Given the description of an element on the screen output the (x, y) to click on. 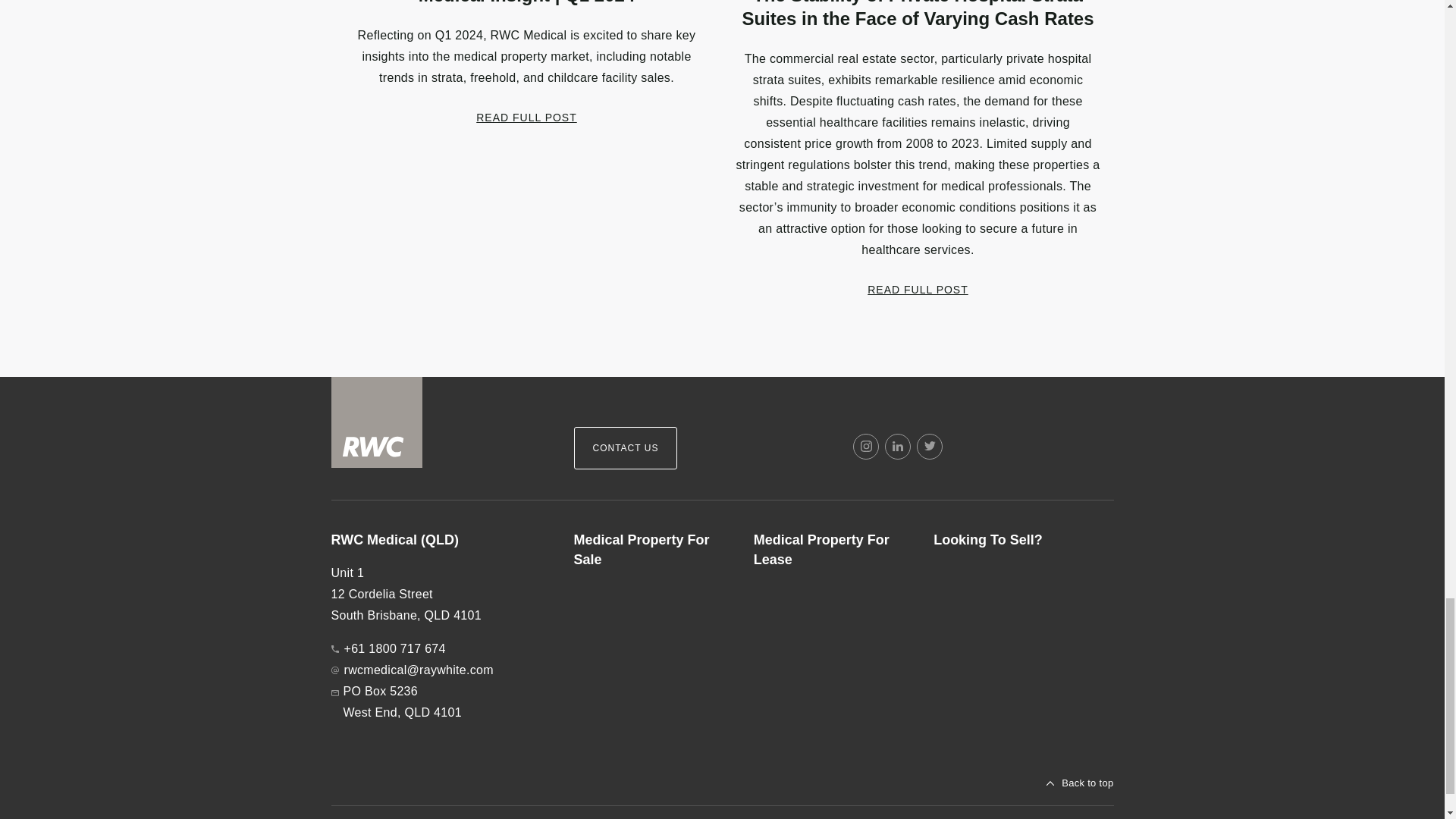
READ FULL POST (526, 116)
CONTACT US (625, 447)
LinkedIn (898, 446)
Ray White (376, 421)
Twitter (929, 446)
Back to top (1079, 783)
Medical Property For Lease (831, 550)
Looking To Sell? (1011, 540)
